Given the description of an element on the screen output the (x, y) to click on. 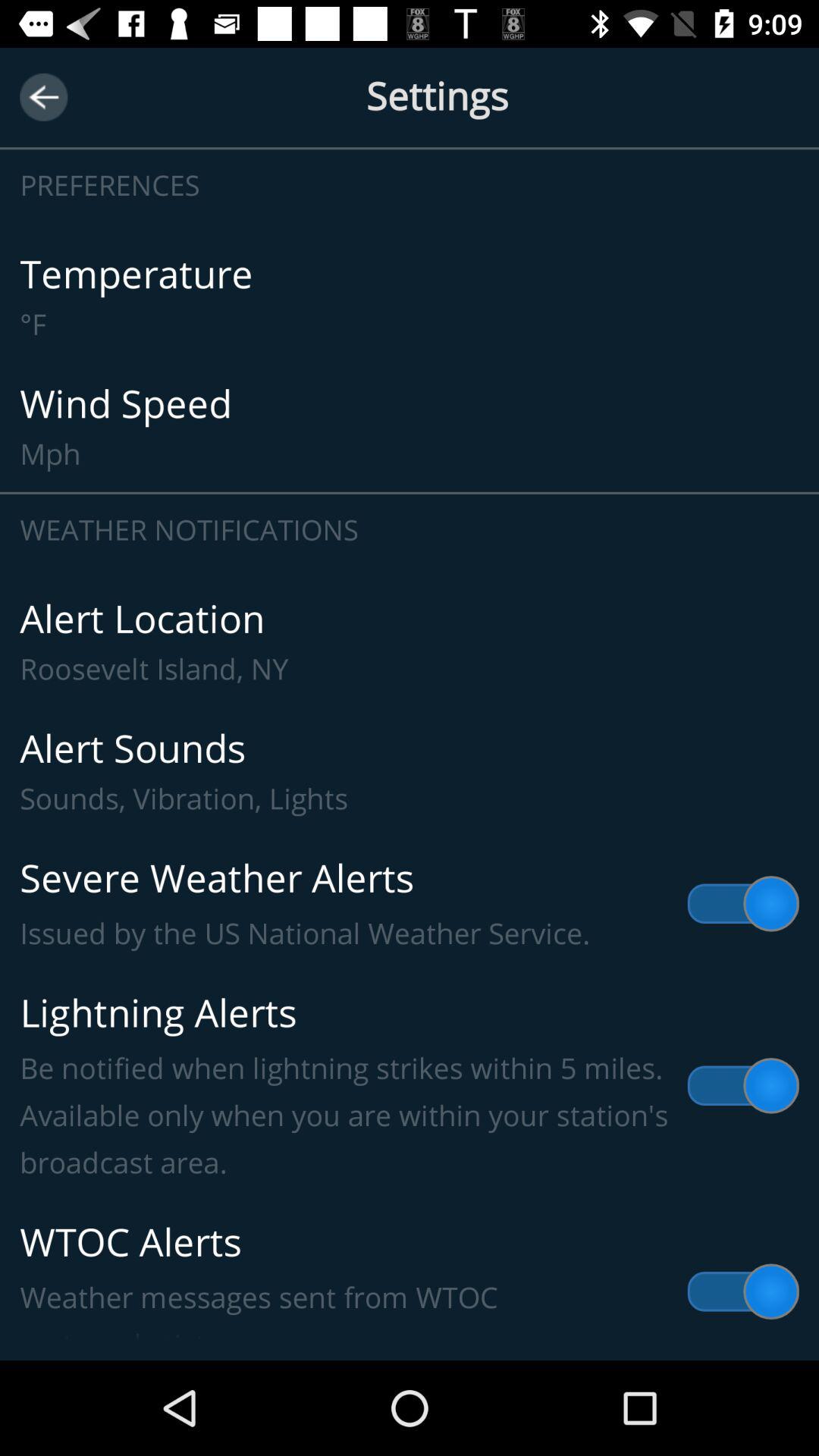
turn off the icon below the weather notifications (409, 641)
